Given the description of an element on the screen output the (x, y) to click on. 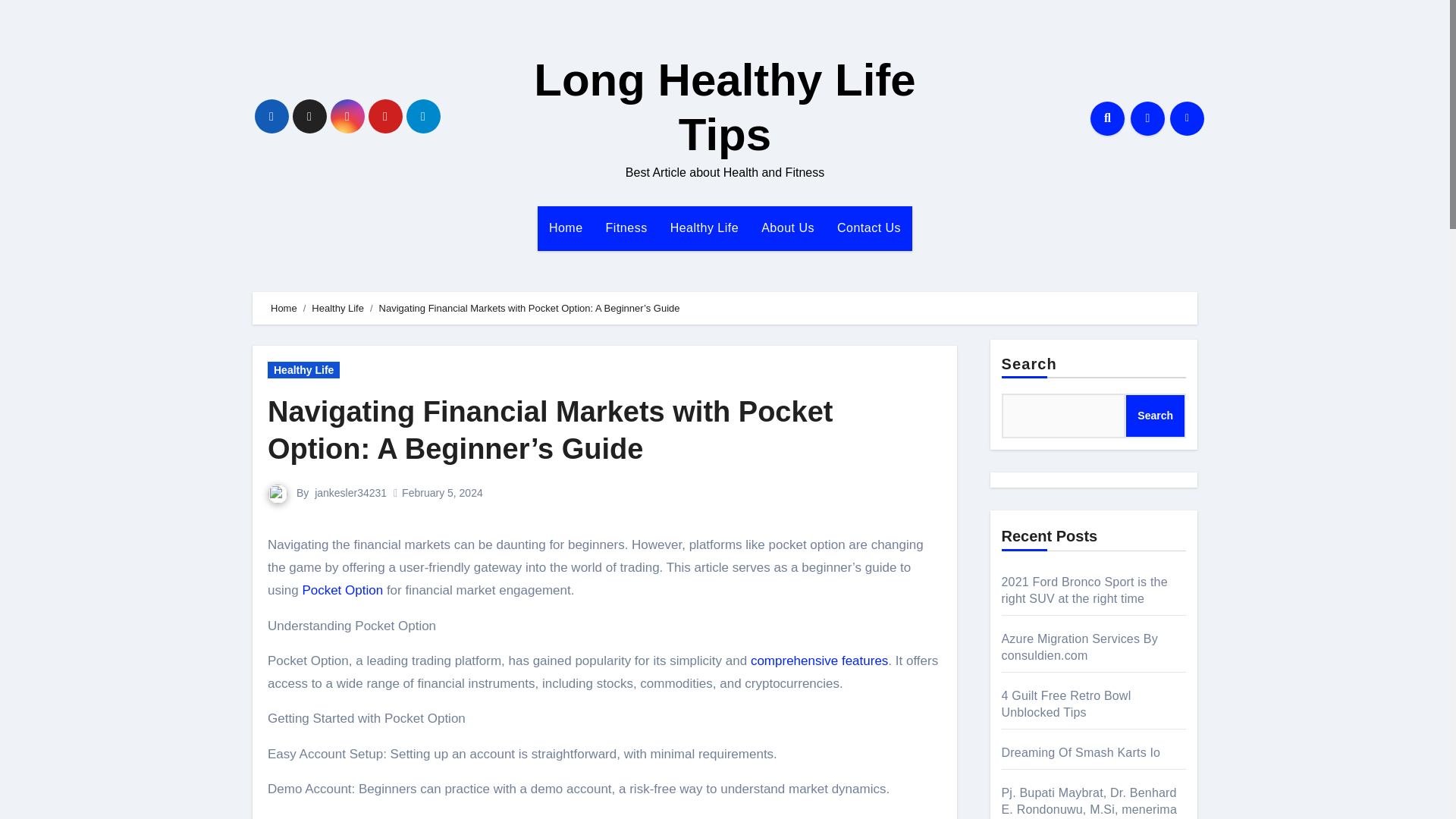
About Us (787, 228)
Home (283, 307)
Healthy Life (705, 228)
Healthy Life (337, 307)
February 5, 2024 (442, 492)
Fitness (626, 228)
Fitness (626, 228)
Home (565, 228)
Pocket Option (341, 590)
comprehensive features (819, 660)
jankesler34231 (350, 492)
Long Healthy Life Tips (724, 106)
Healthy Life (303, 369)
Healthy Life (705, 228)
Home (565, 228)
